Given the description of an element on the screen output the (x, y) to click on. 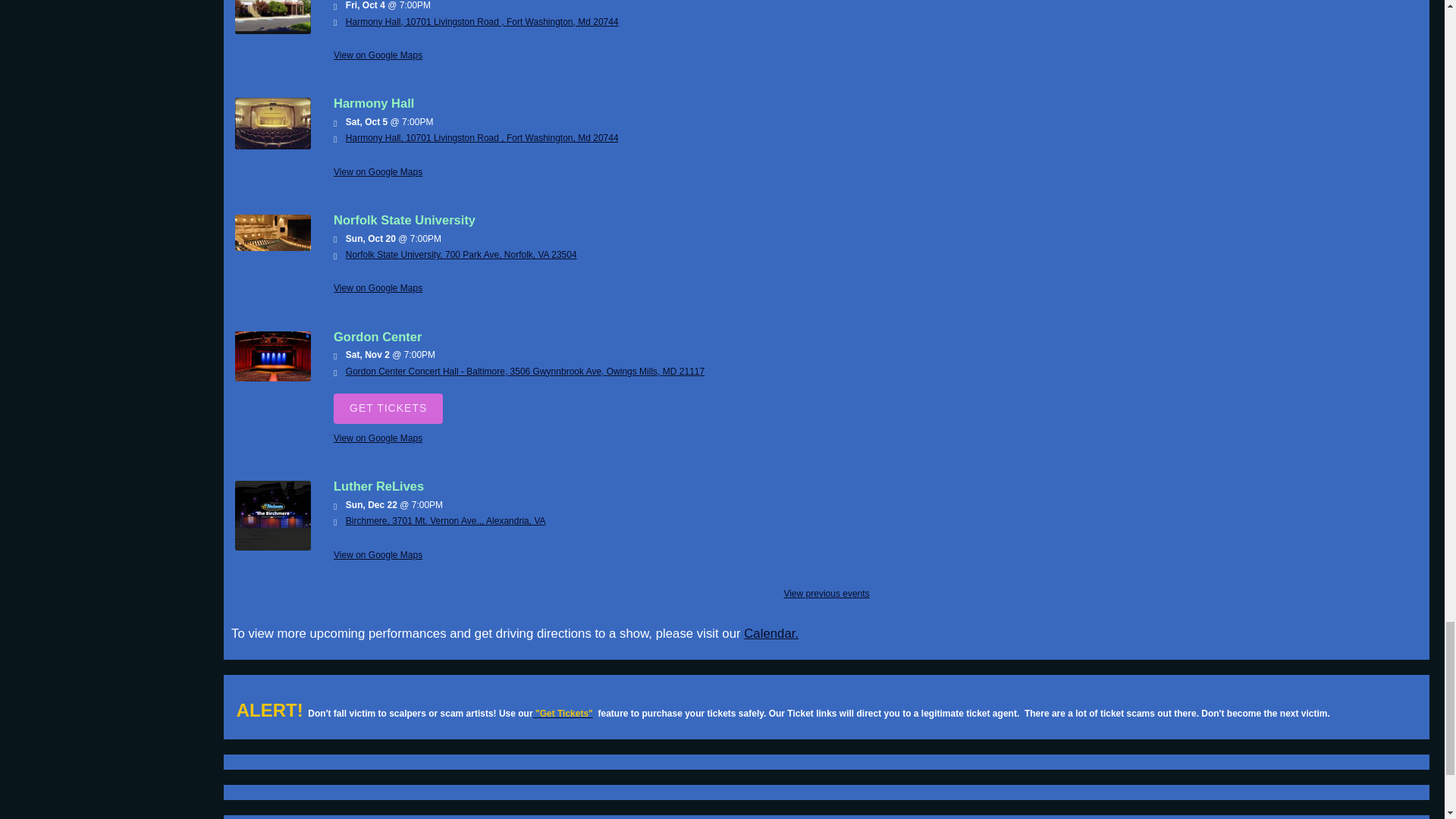
Norfolk State University (272, 247)
View on Google Maps (377, 54)
Norfolk State University, 700 Park Ave, Norfolk, VA 23504 (461, 254)
View on Google Maps (461, 254)
Harmony Hall  (272, 30)
View on Google Maps (482, 21)
Harmony Hall  (272, 145)
Gordon Center (272, 378)
Luther ReLives (272, 547)
View on Google Maps (377, 172)
View on Google Maps (377, 438)
GET TICKETS (387, 408)
